Given the description of an element on the screen output the (x, y) to click on. 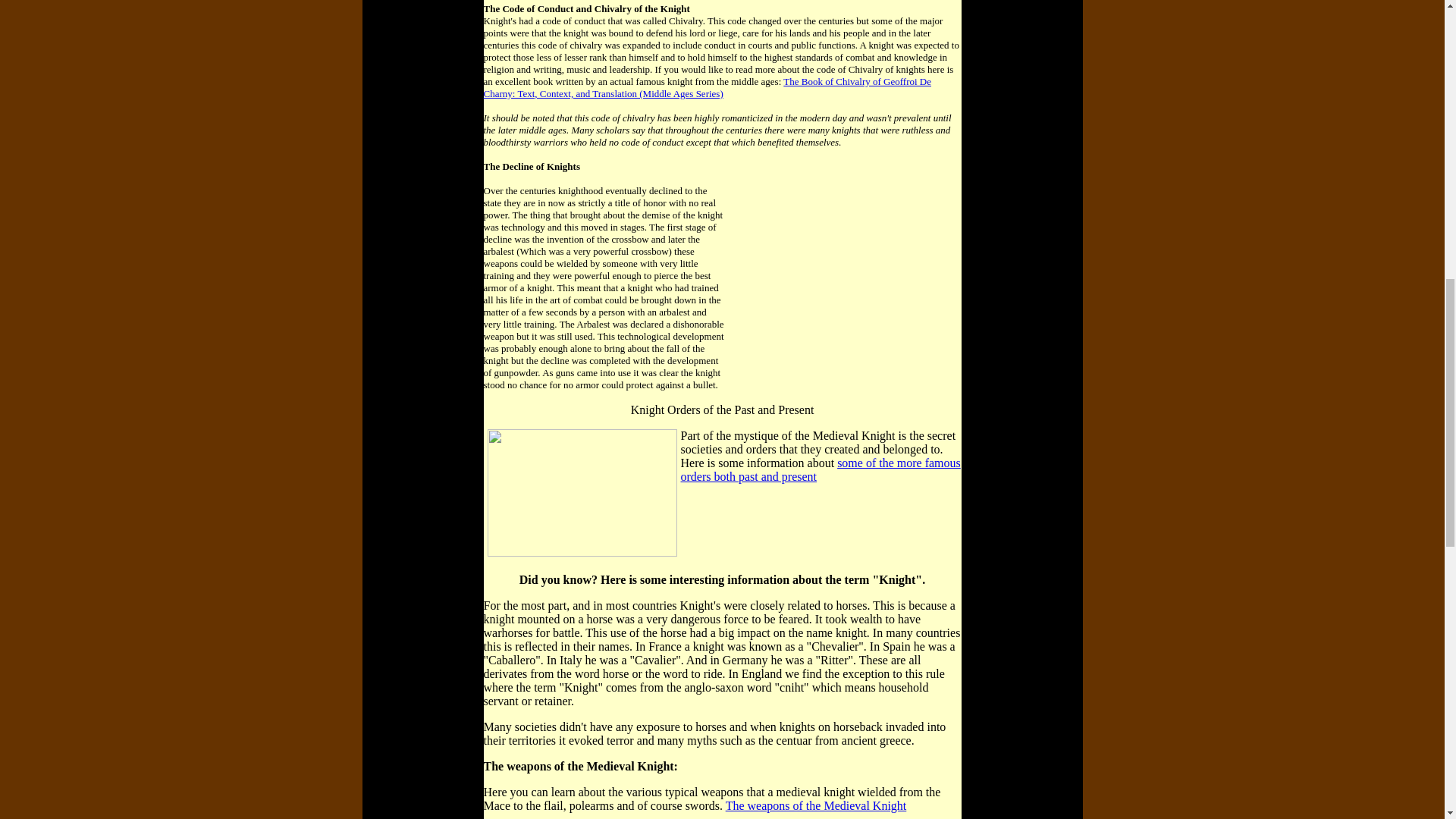
The weapons of the Medieval Knight (816, 805)
some of the more famous orders both past and present (820, 469)
